Given the description of an element on the screen output the (x, y) to click on. 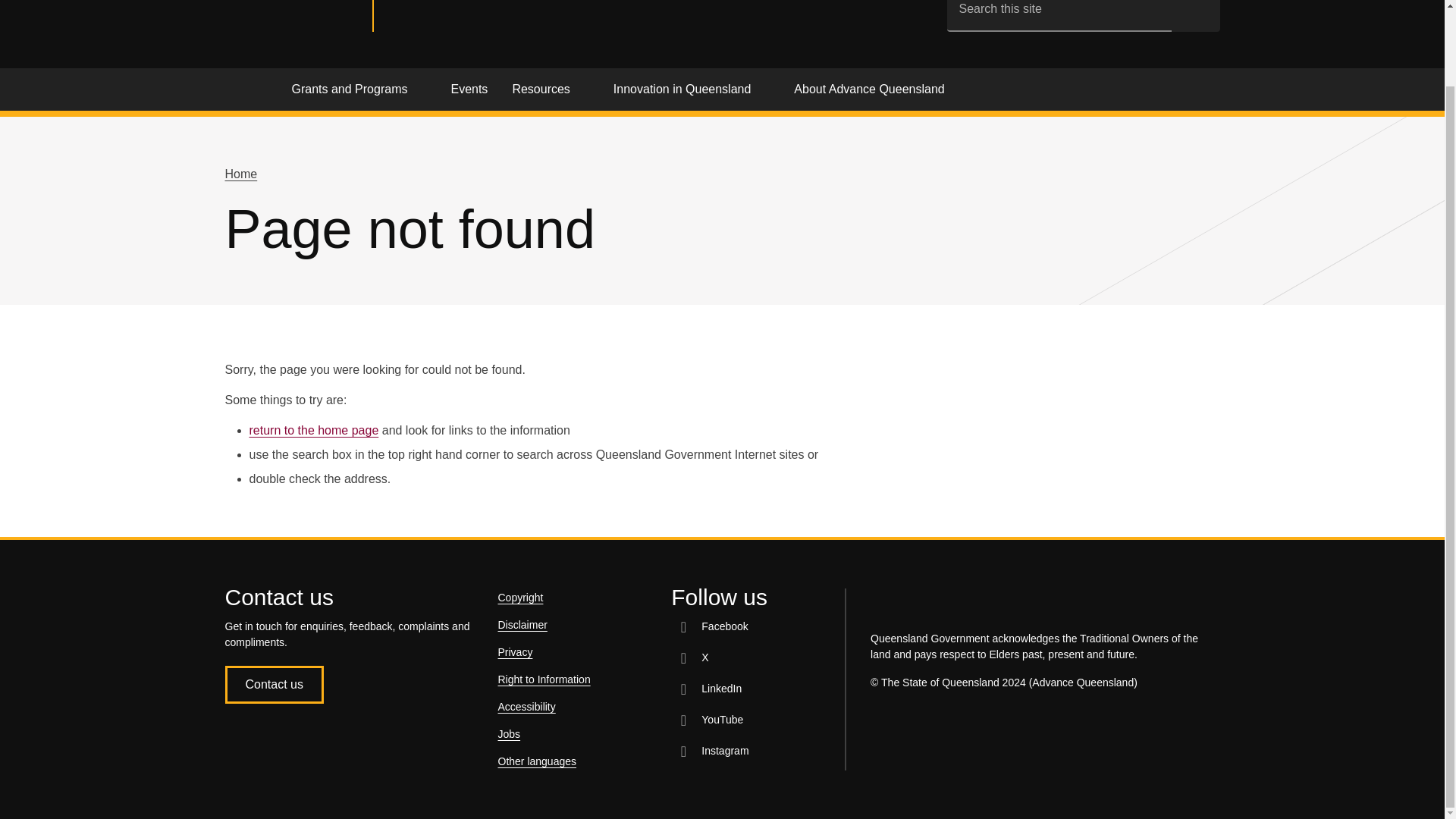
Resources (549, 92)
Search (1195, 15)
Advance Queensland (479, 15)
Events (468, 92)
Open submenu (583, 89)
Queensland Government (298, 15)
Search (1195, 15)
Grants and Programs (358, 92)
Open submenu (420, 89)
Search this site (1058, 15)
